Given the description of an element on the screen output the (x, y) to click on. 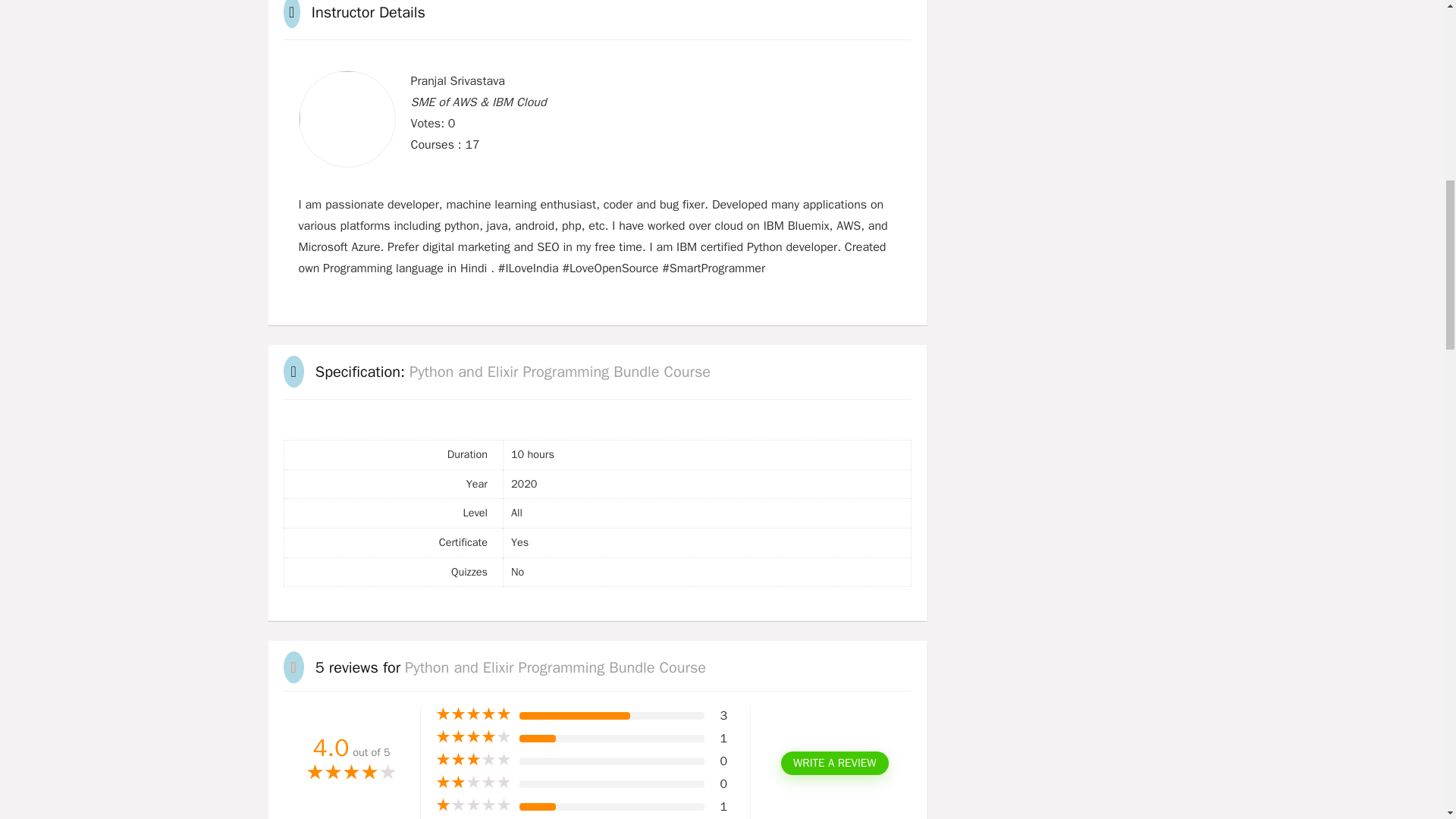
Rated 3 out of 5 (473, 759)
Rated 4 out of 5 (351, 773)
Rated 2 out of 5 (473, 782)
WRITE A REVIEW (834, 762)
Rated 4 out of 5 (473, 736)
Rated 5 out of 5 (473, 713)
Rated 1 out of 5 (473, 805)
